Given the description of an element on the screen output the (x, y) to click on. 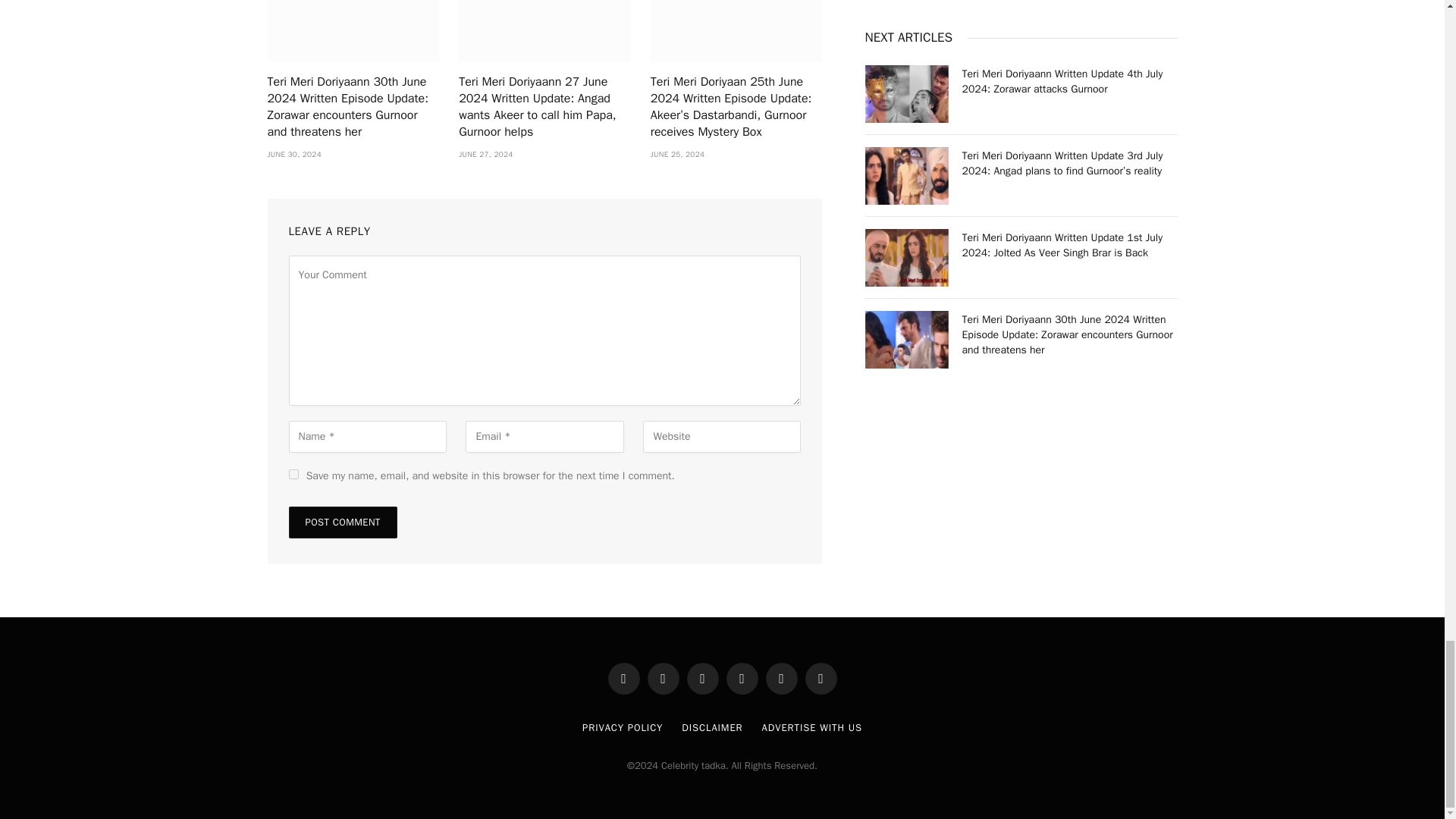
yes (293, 474)
Post Comment (342, 522)
